Given the description of an element on the screen output the (x, y) to click on. 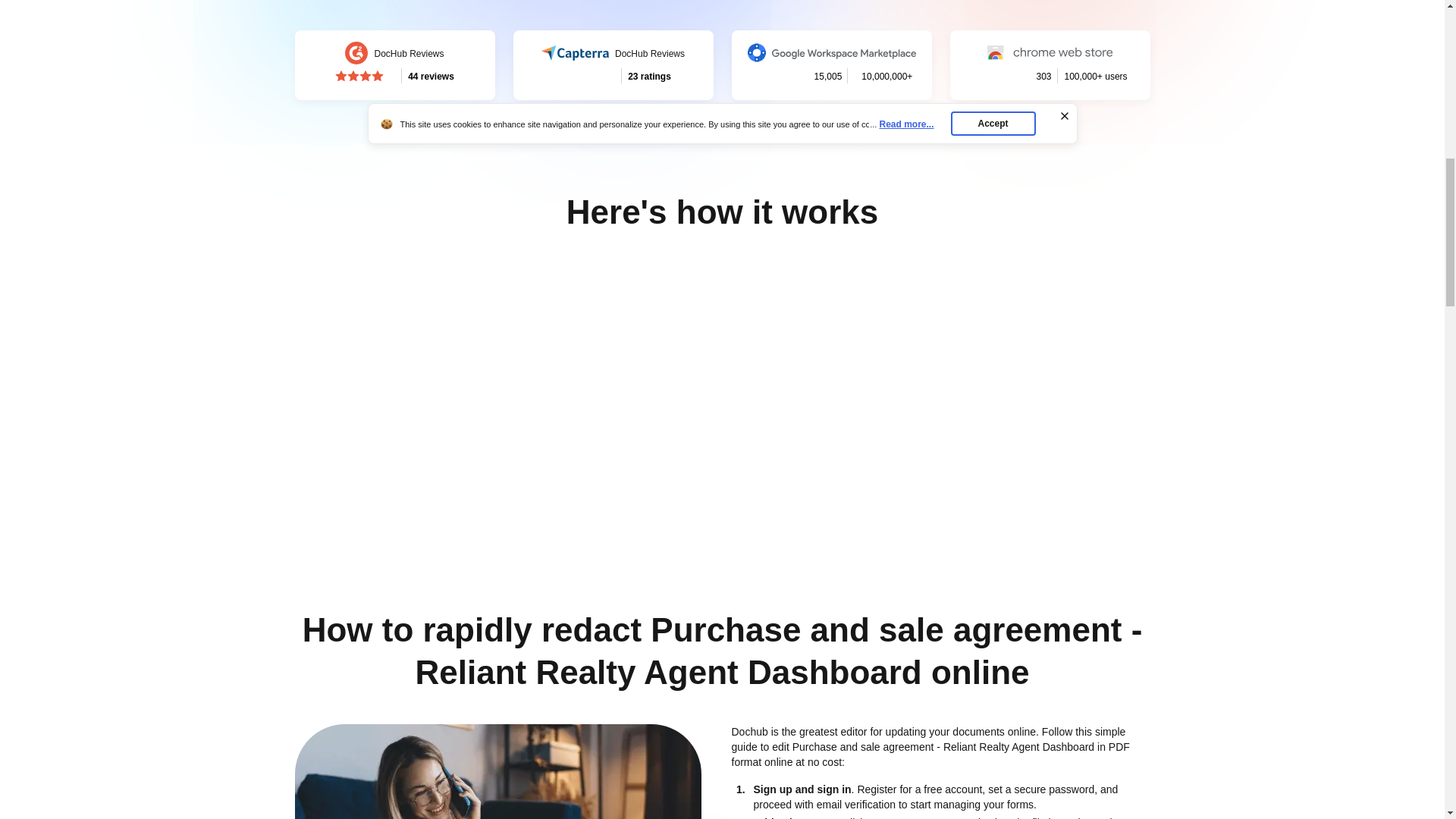
Start now (931, 35)
